Given the description of an element on the screen output the (x, y) to click on. 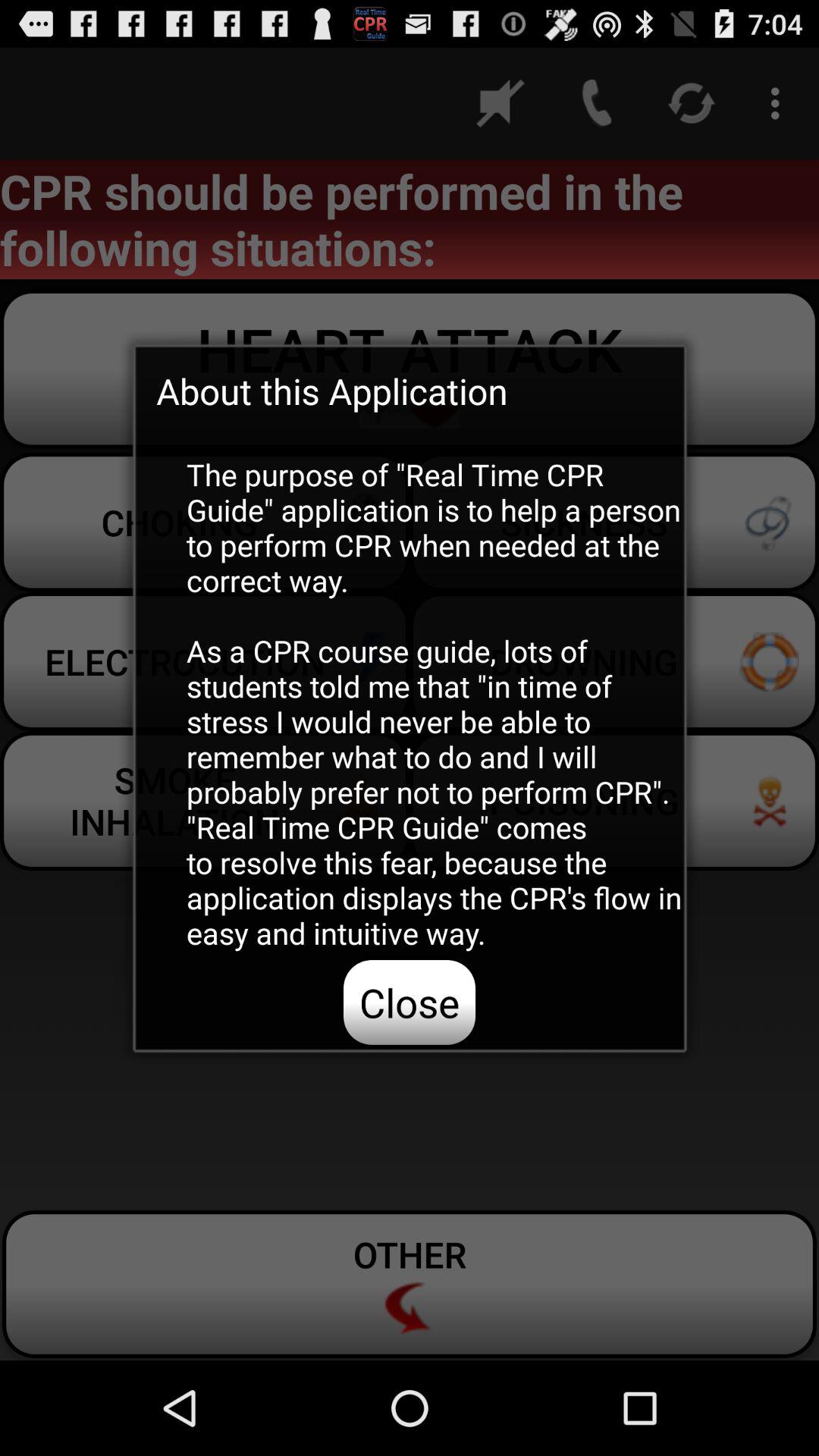
turn on the close at the bottom (409, 1002)
